Given the description of an element on the screen output the (x, y) to click on. 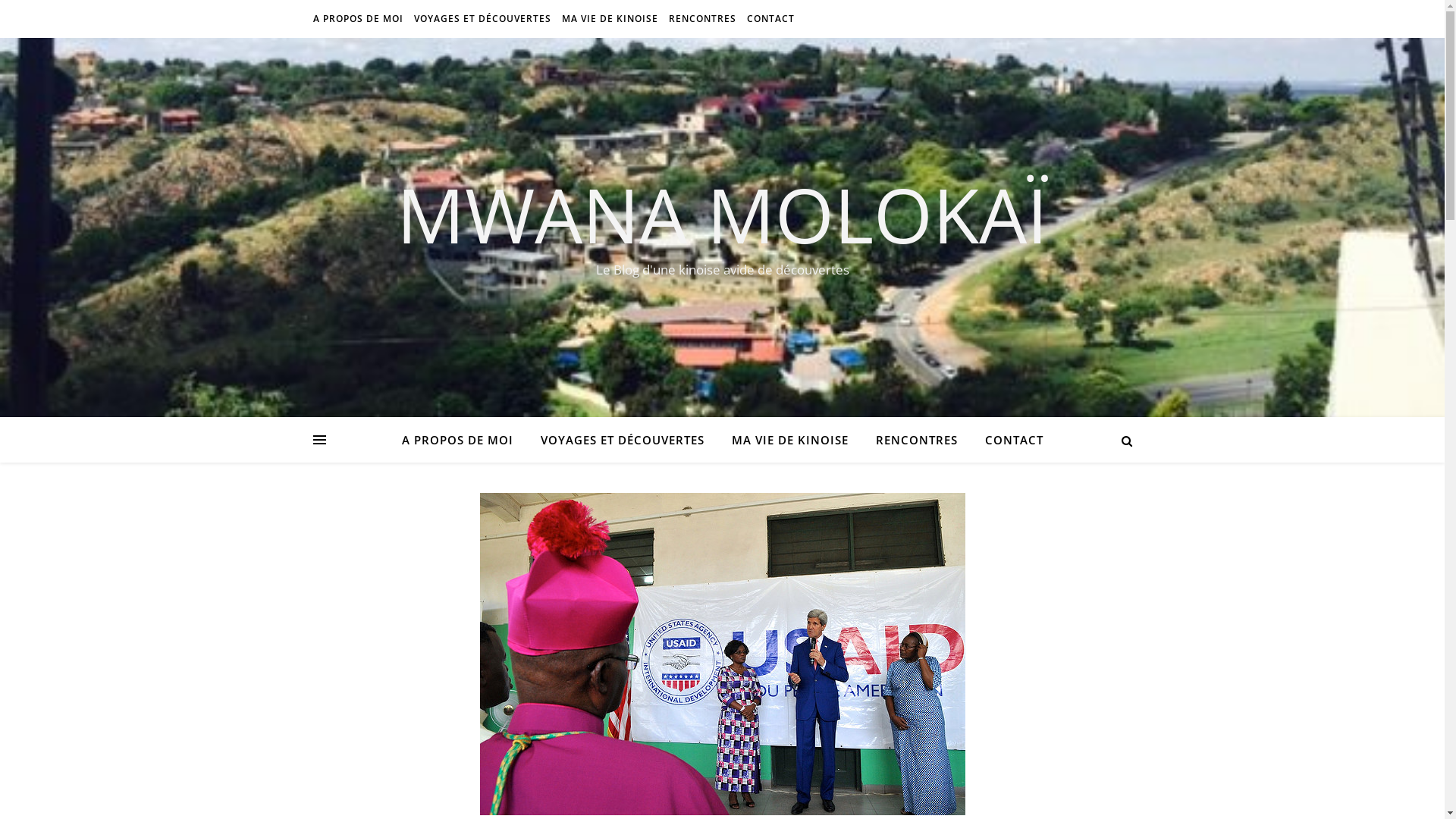
A PROPOS DE MOI Element type: text (359, 18)
MA VIE DE KINOISE Element type: text (788, 439)
RENCONTRES Element type: text (701, 18)
MA VIE DE KINOISE Element type: text (610, 18)
A PROPOS DE MOI Element type: text (463, 439)
CONTACT Element type: text (768, 18)
RENCONTRES Element type: text (915, 439)
CONTACT Element type: text (1007, 439)
